Given the description of an element on the screen output the (x, y) to click on. 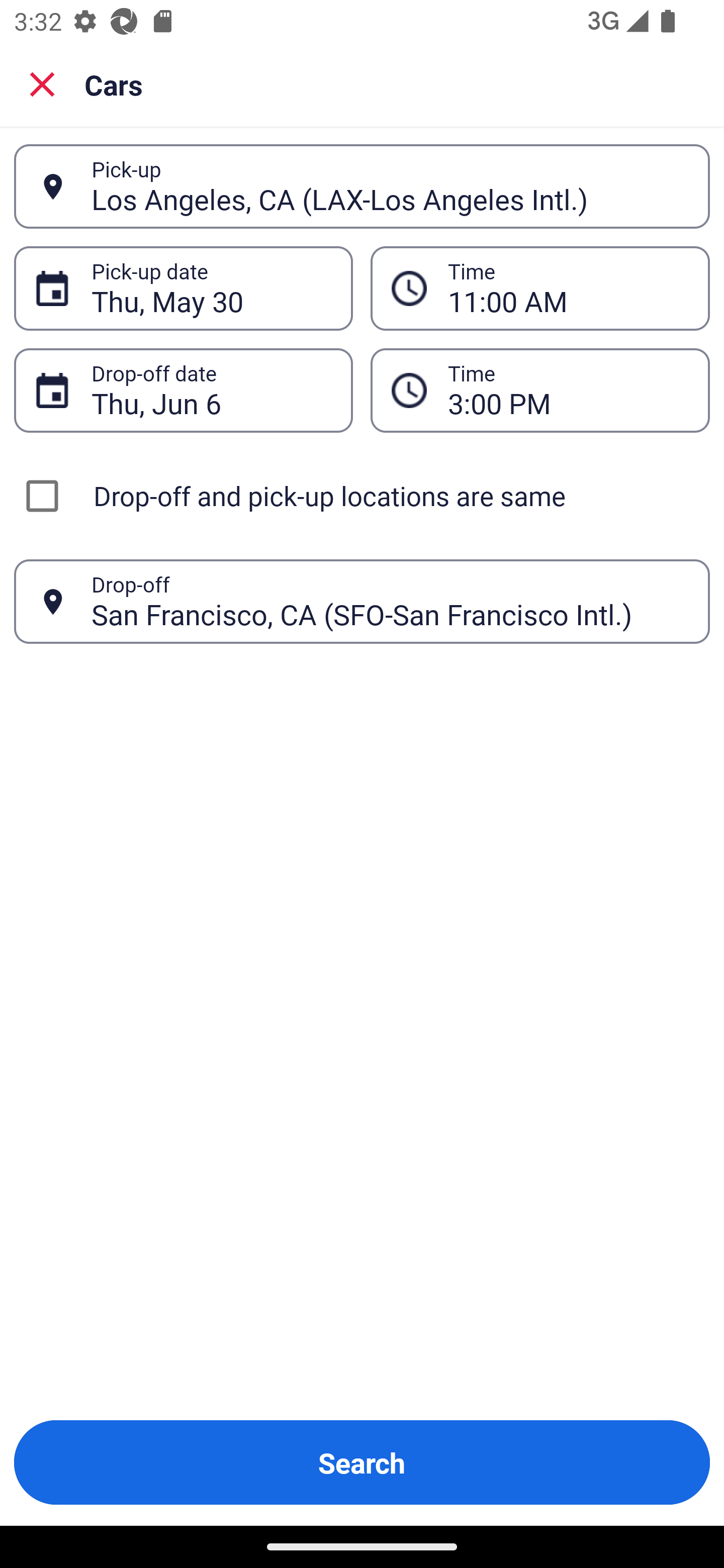
Close search screen (41, 83)
Los Angeles, CA (LAX-Los Angeles Intl.) Pick-up (361, 186)
Los Angeles, CA (LAX-Los Angeles Intl.) (389, 186)
Thu, May 30 Pick-up date (183, 288)
11:00 AM (540, 288)
Thu, May 30 (211, 288)
11:00 AM (568, 288)
Thu, Jun 6 Drop-off date (183, 390)
3:00 PM (540, 390)
Thu, Jun 6 (211, 390)
3:00 PM (568, 390)
Drop-off and pick-up locations are same (361, 495)
San Francisco, CA (SFO-San Francisco Intl.) (389, 601)
Search Button Search (361, 1462)
